Given the description of an element on the screen output the (x, y) to click on. 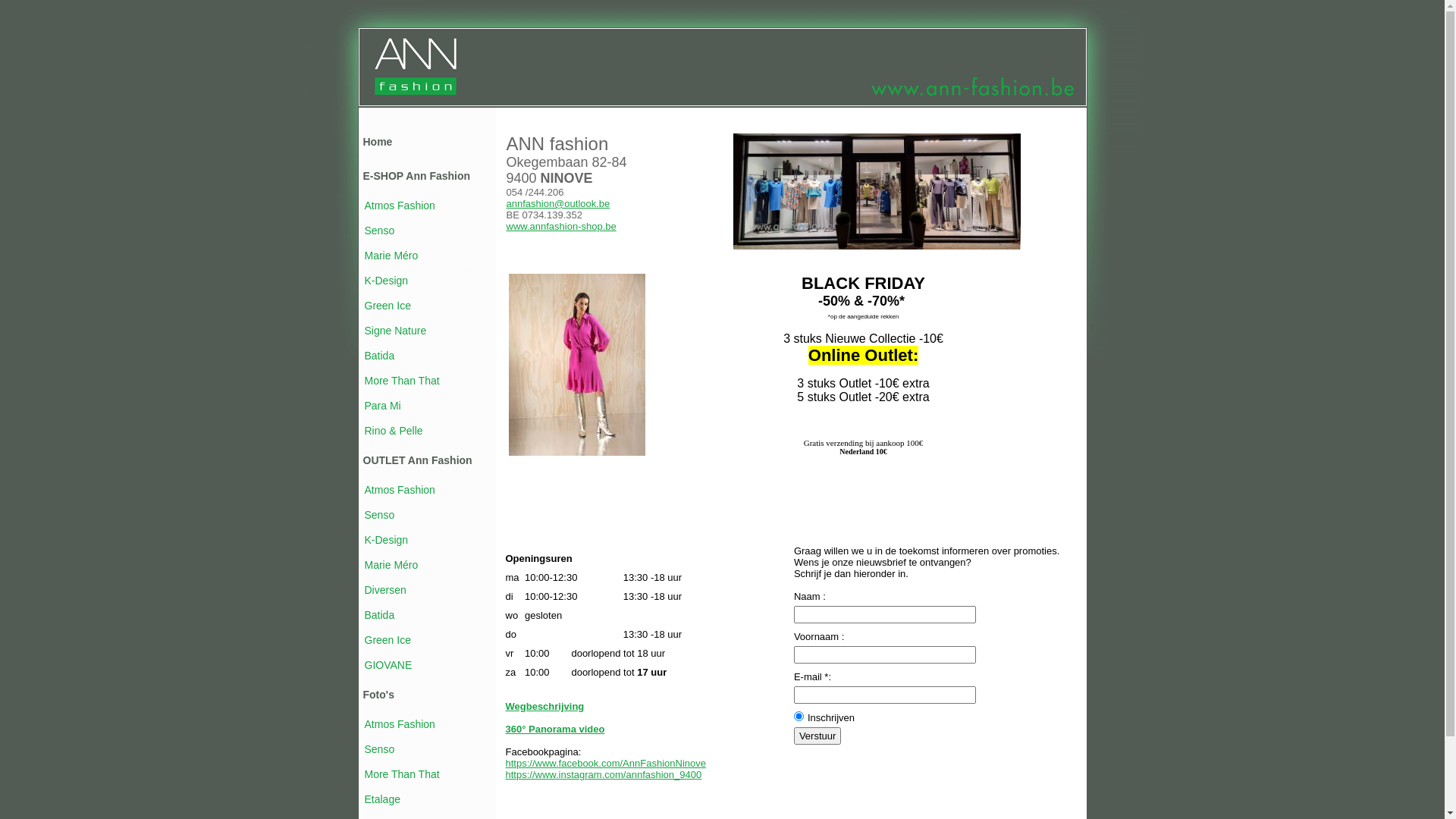
Batida Element type: text (379, 355)
www.annfashion-shop.be Element type: text (561, 226)
Home Element type: text (377, 141)
Atmos Fashion Element type: text (399, 724)
K-Design Element type: text (385, 539)
Atmos Fashion Element type: text (399, 205)
K-Design Element type: text (385, 280)
E-SHOP Ann Fashion Element type: text (416, 175)
https://www.instagram.com/annfashion_9400 Element type: text (603, 774)
OUTLET Ann Fashion Element type: text (416, 460)
Para Mi Element type: text (382, 405)
Wegbeschrijving Element type: text (544, 706)
Senso Element type: text (379, 230)
More Than That Element type: text (401, 380)
annfashion@outlook.be Element type: text (558, 203)
Signe Nature Element type: text (395, 330)
Verstuur Element type: text (816, 735)
Diversen Element type: text (384, 589)
GIOVANE Element type: text (387, 664)
Rino & Pelle Element type: text (393, 430)
Green Ice Element type: text (387, 305)
Etalage Element type: text (381, 799)
Atmos Fashion Element type: text (399, 489)
https://www.facebook.com/AnnFashionNinove Element type: text (605, 762)
Senso Element type: text (379, 514)
More Than That Element type: text (401, 774)
Batida Element type: text (379, 614)
Senso Element type: text (379, 749)
Green Ice Element type: text (387, 639)
Foto's Element type: text (377, 694)
